Given the description of an element on the screen output the (x, y) to click on. 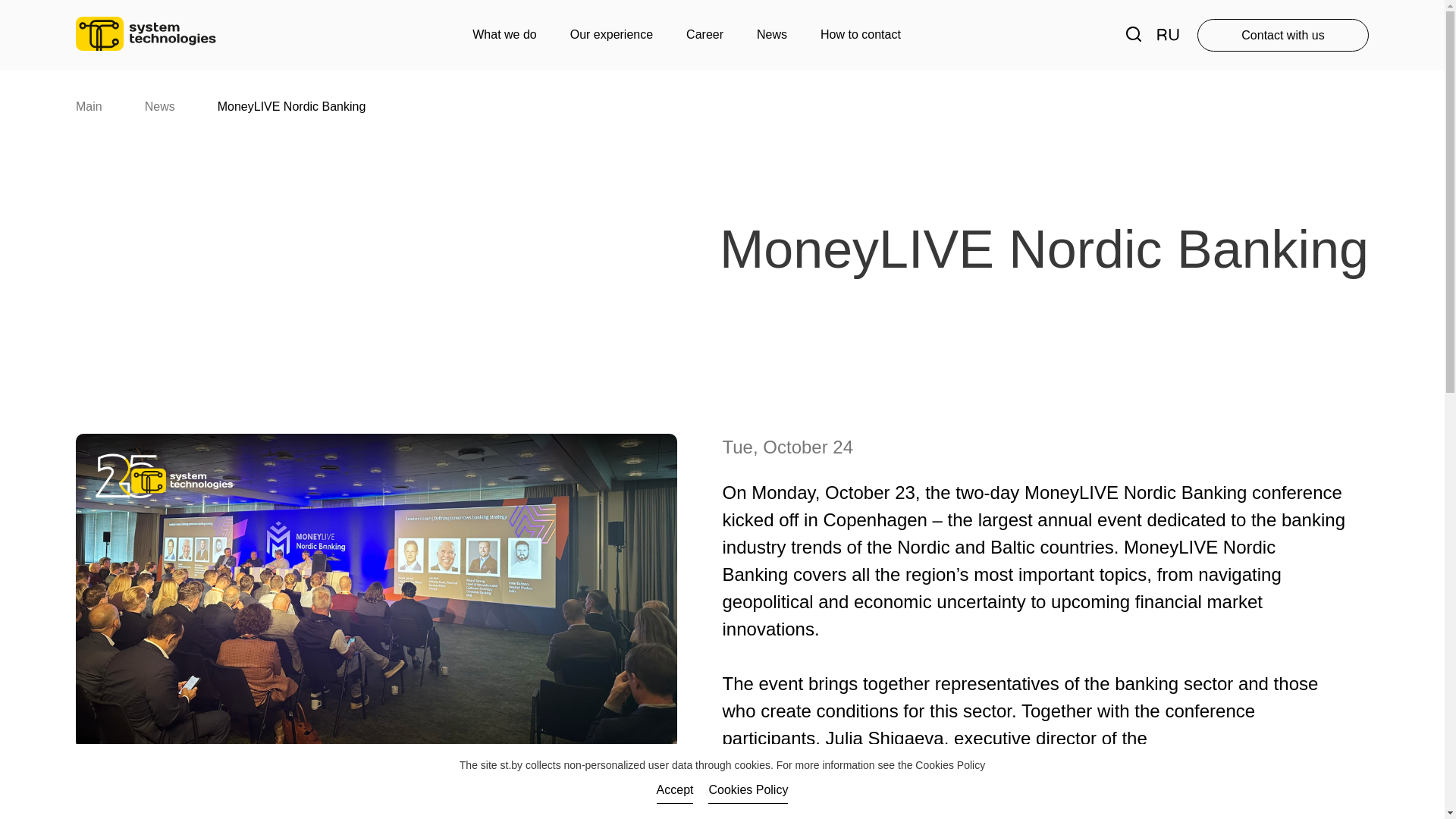
Our experience (611, 33)
Main (88, 106)
MoneyLIVE Nordic Banking (291, 106)
News (772, 33)
Career (704, 33)
What we do (503, 33)
How to contact (861, 33)
News (159, 106)
Contact with us (1282, 34)
